Given the description of an element on the screen output the (x, y) to click on. 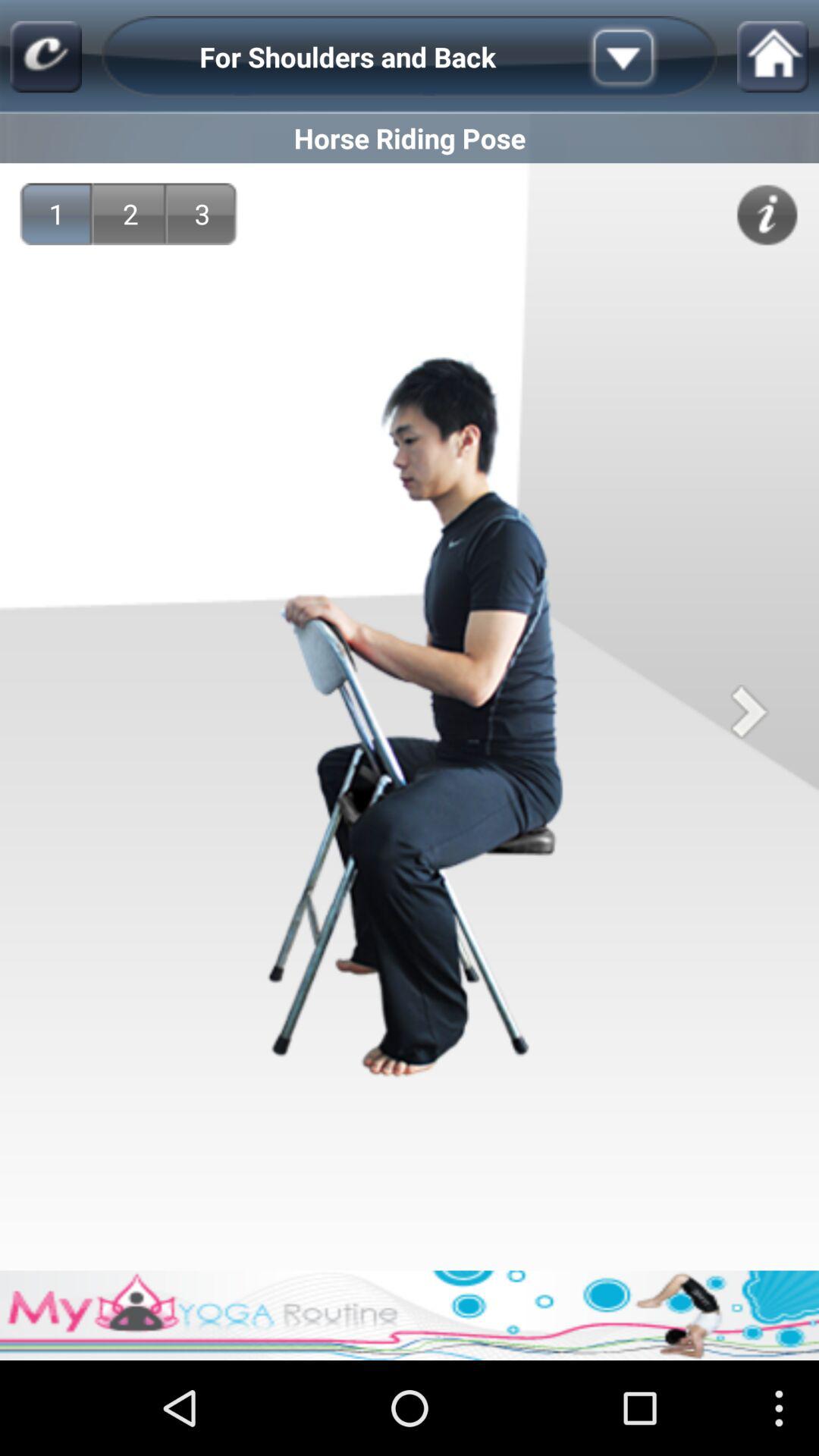
turn off app below horse riding pose icon (130, 214)
